Given the description of an element on the screen output the (x, y) to click on. 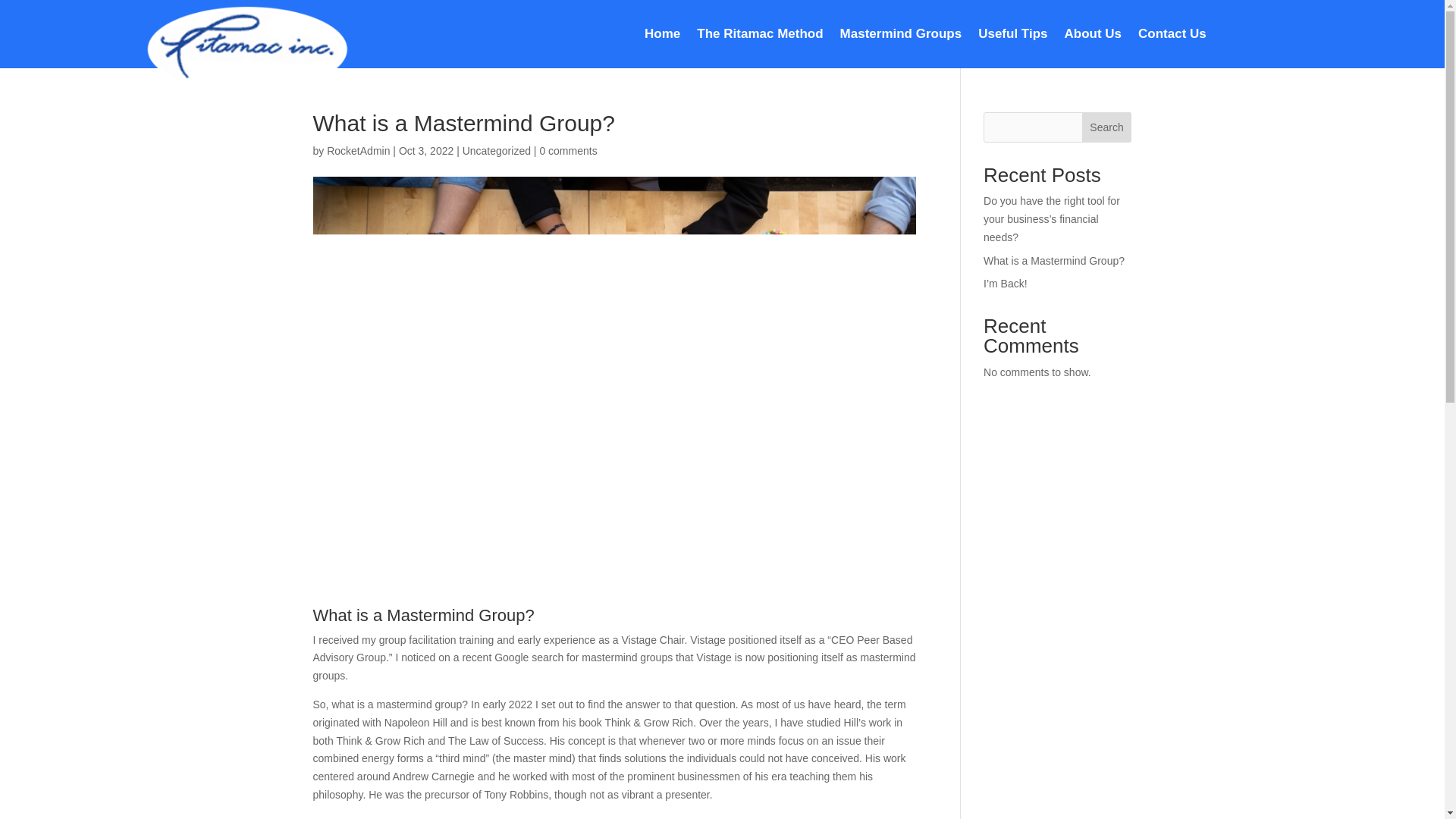
Search (1106, 127)
Mastermind Groups (901, 36)
What is a Mastermind Group? (1054, 260)
RocketAdmin (358, 150)
Home (662, 36)
Useful Tips (1012, 36)
0 comments (567, 150)
Posts by RocketAdmin (358, 150)
About Us (1093, 36)
The Ritamac Method (759, 36)
